Given the description of an element on the screen output the (x, y) to click on. 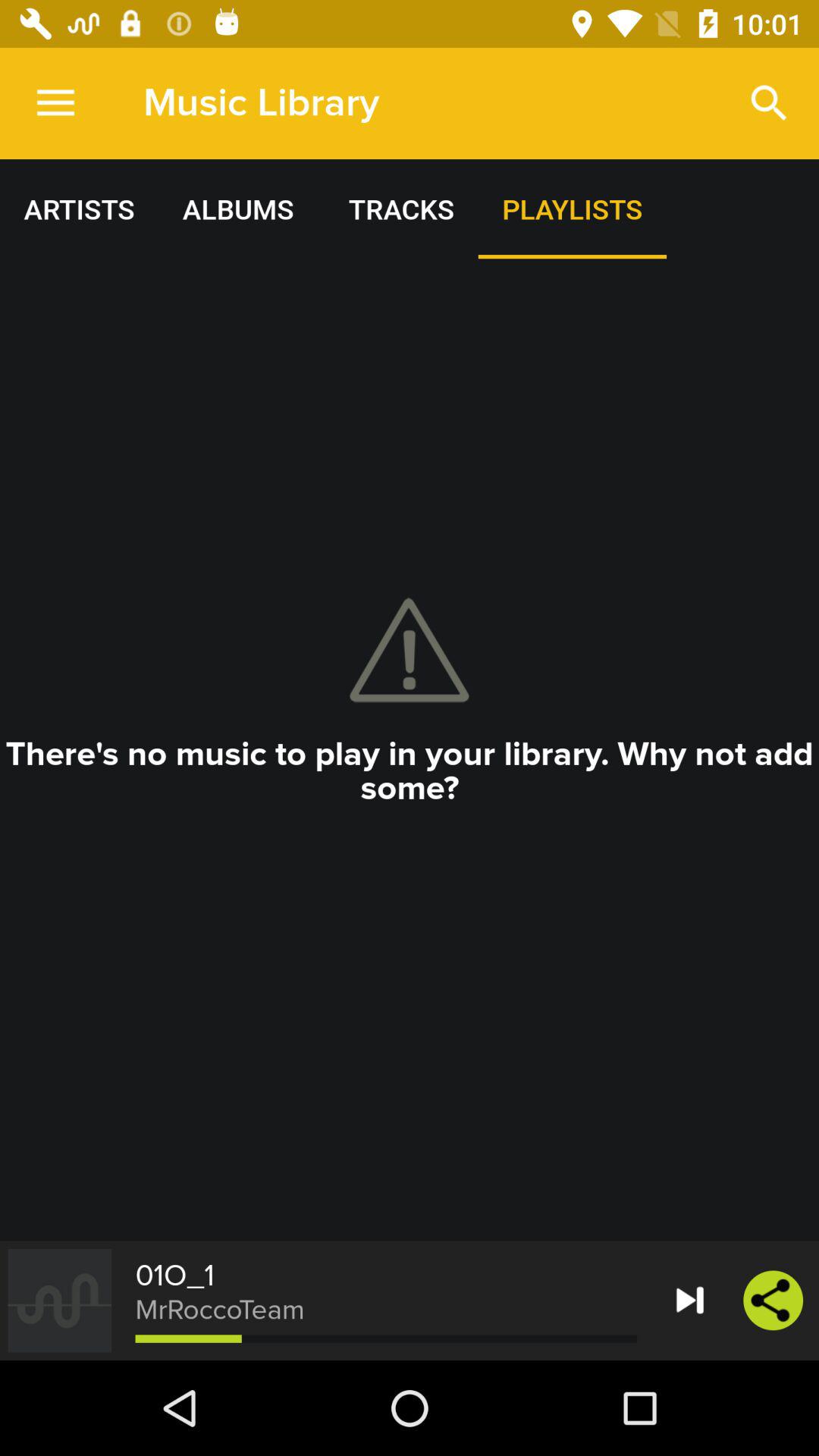
launch item next to music library icon (55, 103)
